Given the description of an element on the screen output the (x, y) to click on. 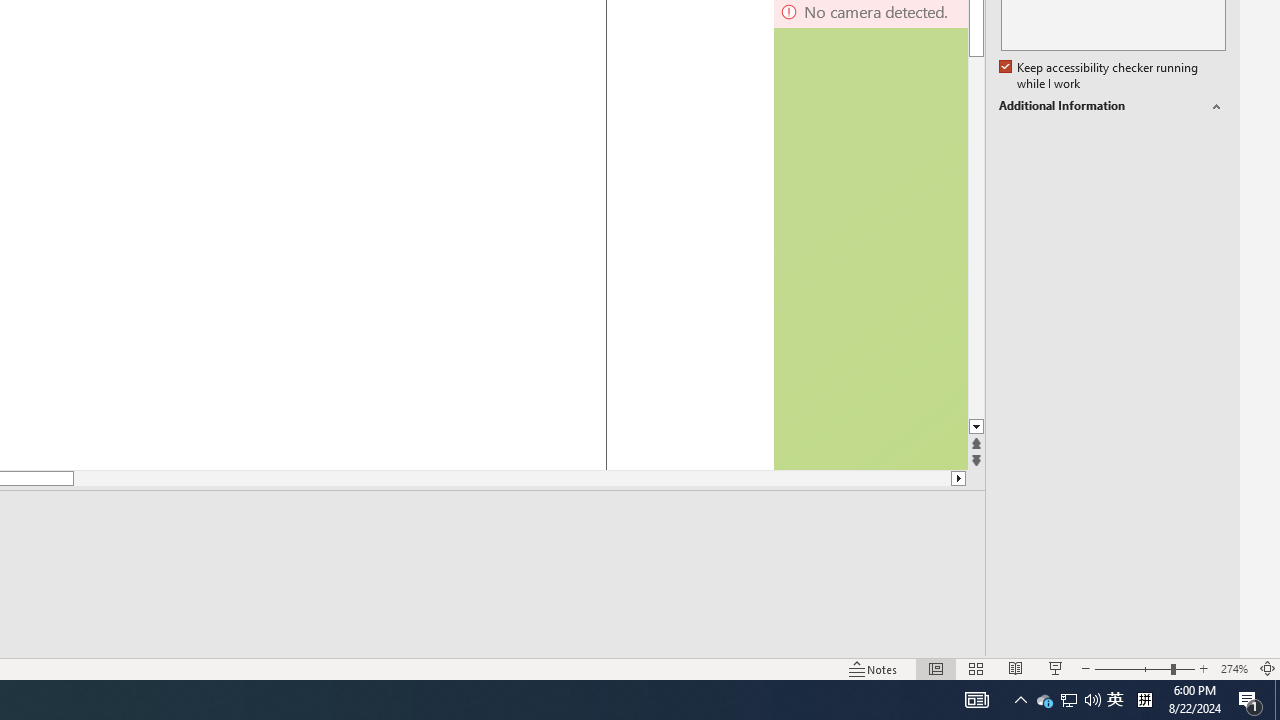
Zoom 274% (1234, 668)
